Given the description of an element on the screen output the (x, y) to click on. 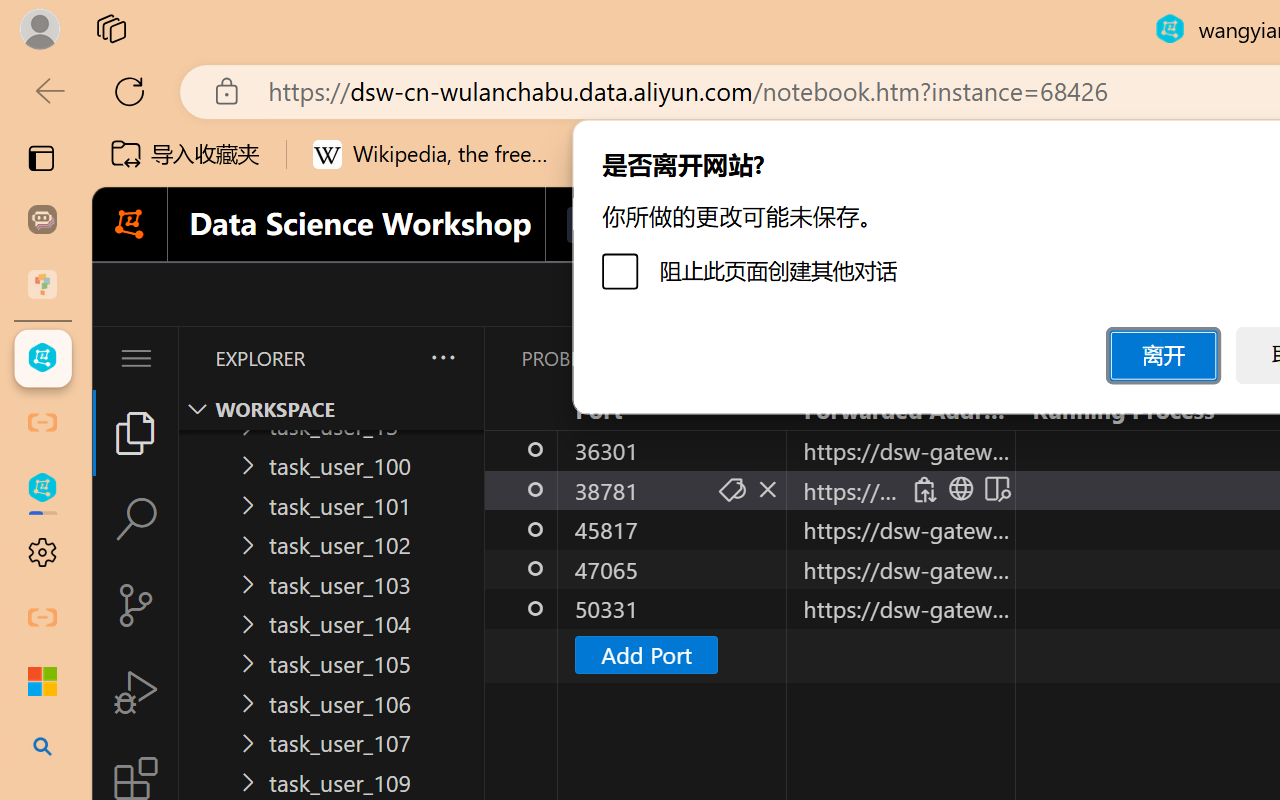
Run and Debug (Ctrl+Shift+D) (135, 692)
Source Control (Ctrl+Shift+G) (135, 604)
Application Menu (135, 358)
Views and More Actions... (442, 357)
Class: menubar compact overflow-menu-only (135, 358)
wangyian_webcrawler - DSW (42, 487)
